Given the description of an element on the screen output the (x, y) to click on. 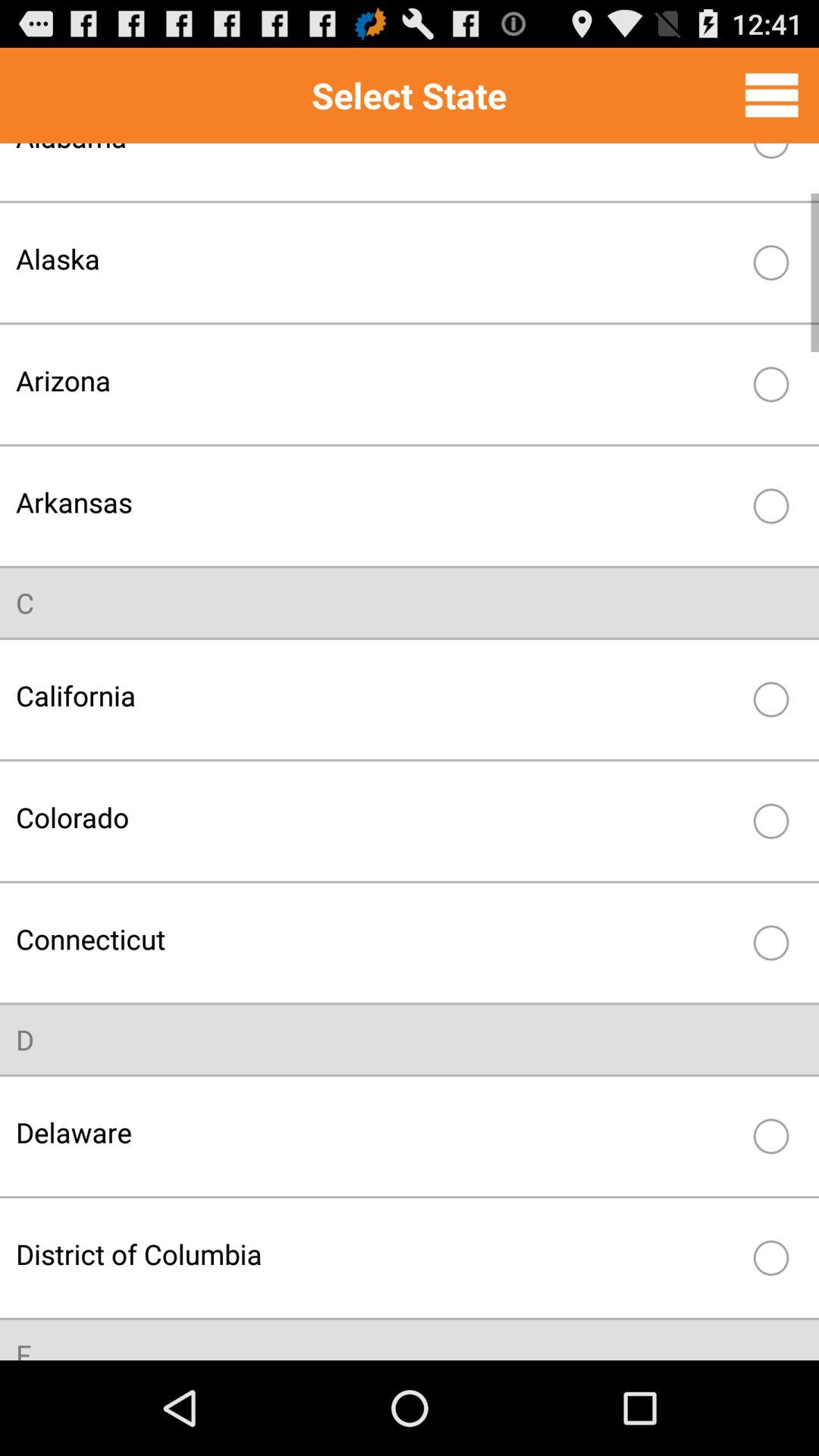
choose item above arizona icon (377, 258)
